Given the description of an element on the screen output the (x, y) to click on. 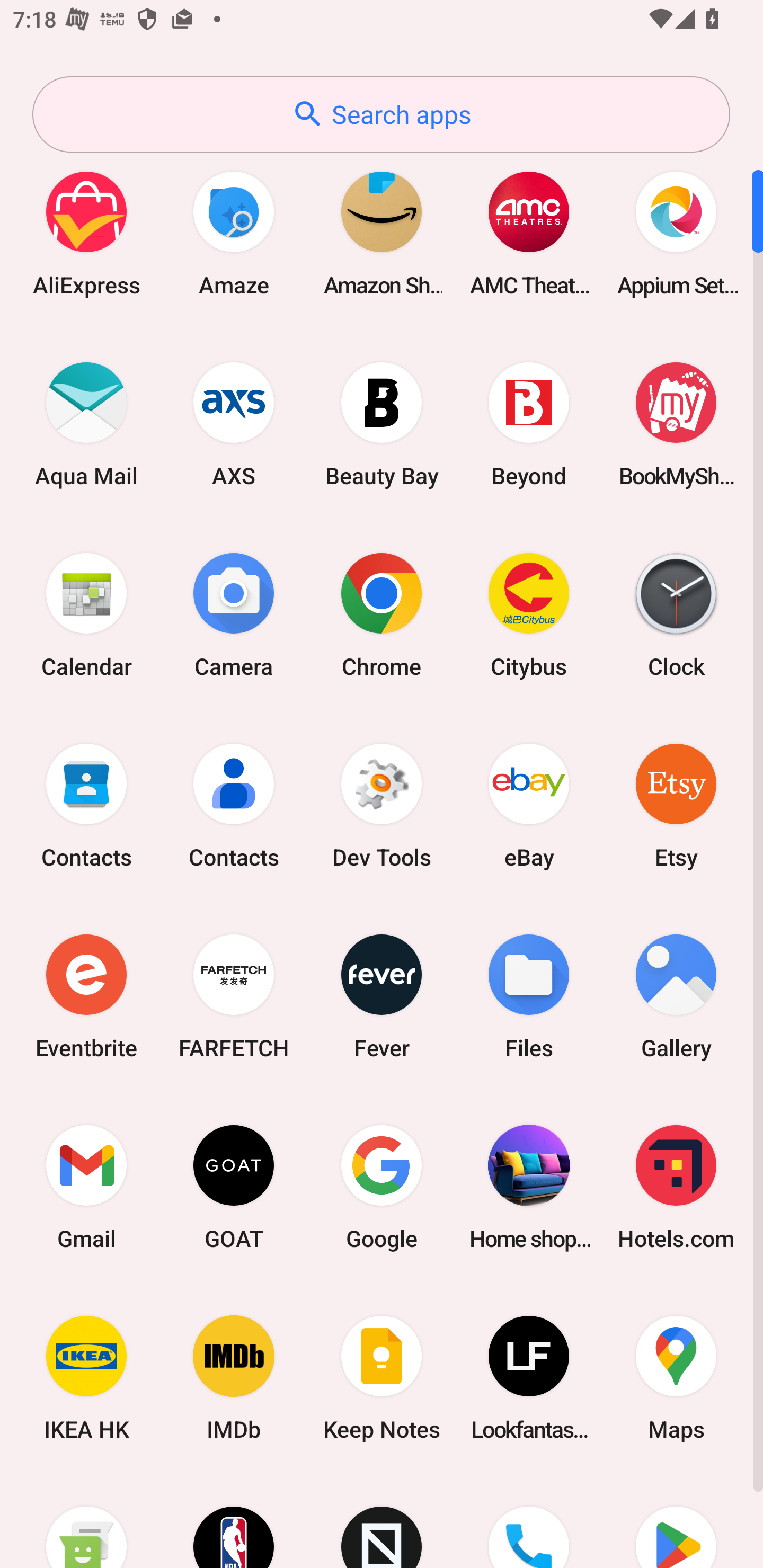
  Search apps (381, 114)
AliExpress (86, 233)
Amaze (233, 233)
Amazon Shopping (381, 233)
AMC Theatres (528, 233)
Appium Settings (676, 233)
Aqua Mail (86, 424)
AXS (233, 424)
Beauty Bay (381, 424)
Beyond (528, 424)
BookMyShow (676, 424)
Calendar (86, 614)
Camera (233, 614)
Chrome (381, 614)
Citybus (528, 614)
Clock (676, 614)
Contacts (86, 805)
Contacts (233, 805)
Dev Tools (381, 805)
eBay (528, 805)
Etsy (676, 805)
Eventbrite (86, 996)
FARFETCH (233, 996)
Fever (381, 996)
Files (528, 996)
Gallery (676, 996)
Gmail (86, 1186)
GOAT (233, 1186)
Google (381, 1186)
Home shopping (528, 1186)
Hotels.com (676, 1186)
IKEA HK (86, 1377)
IMDb (233, 1377)
Keep Notes (381, 1377)
Lookfantastic (528, 1377)
Maps (676, 1377)
Messaging (86, 1520)
NBA (233, 1520)
Novelship (381, 1520)
Phone (528, 1520)
Play Store (676, 1520)
